Given the description of an element on the screen output the (x, y) to click on. 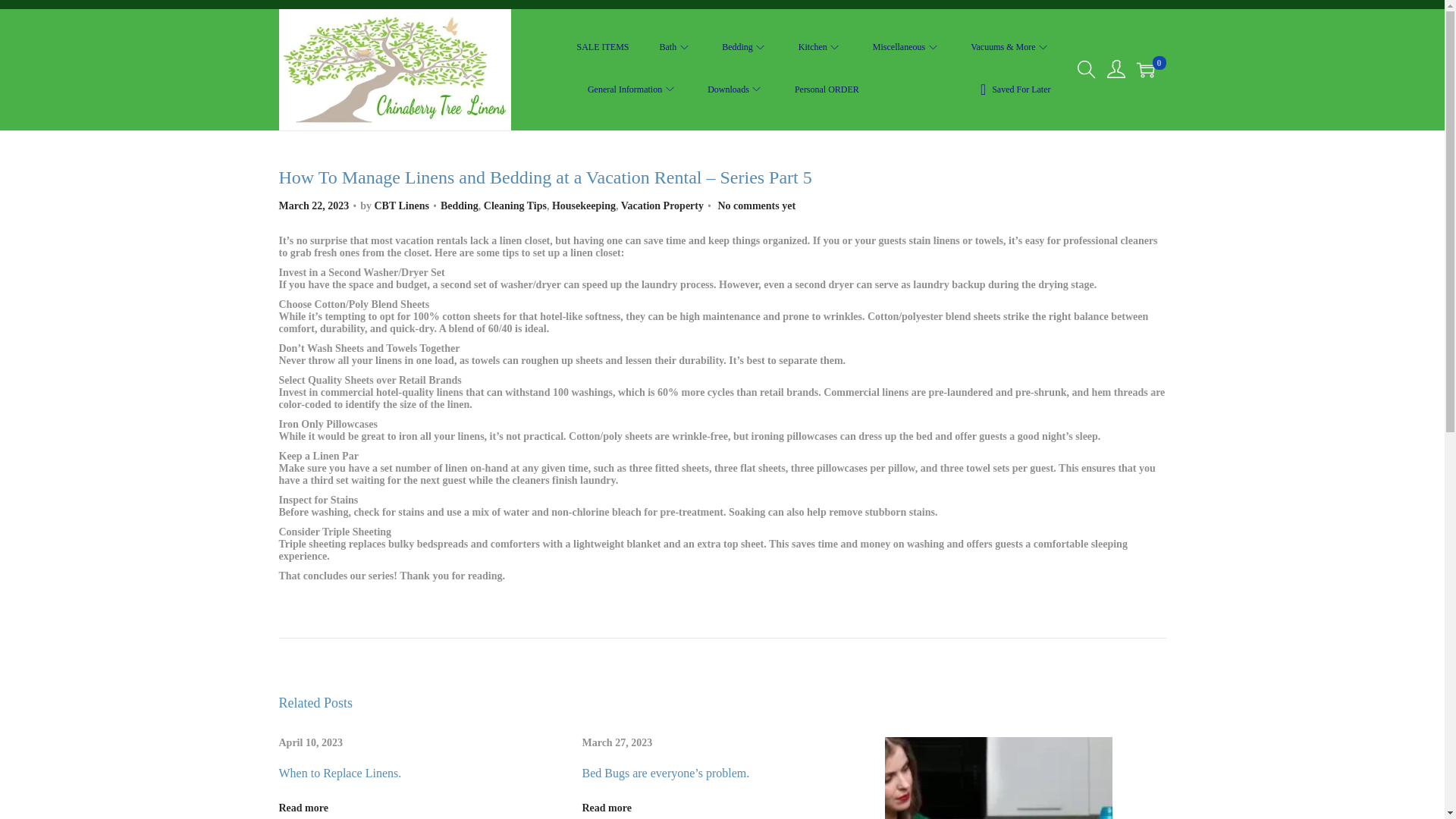
SALE ITEMS (602, 46)
Kitchen (820, 46)
Bedding (745, 46)
Miscellaneous (906, 46)
